Given the description of an element on the screen output the (x, y) to click on. 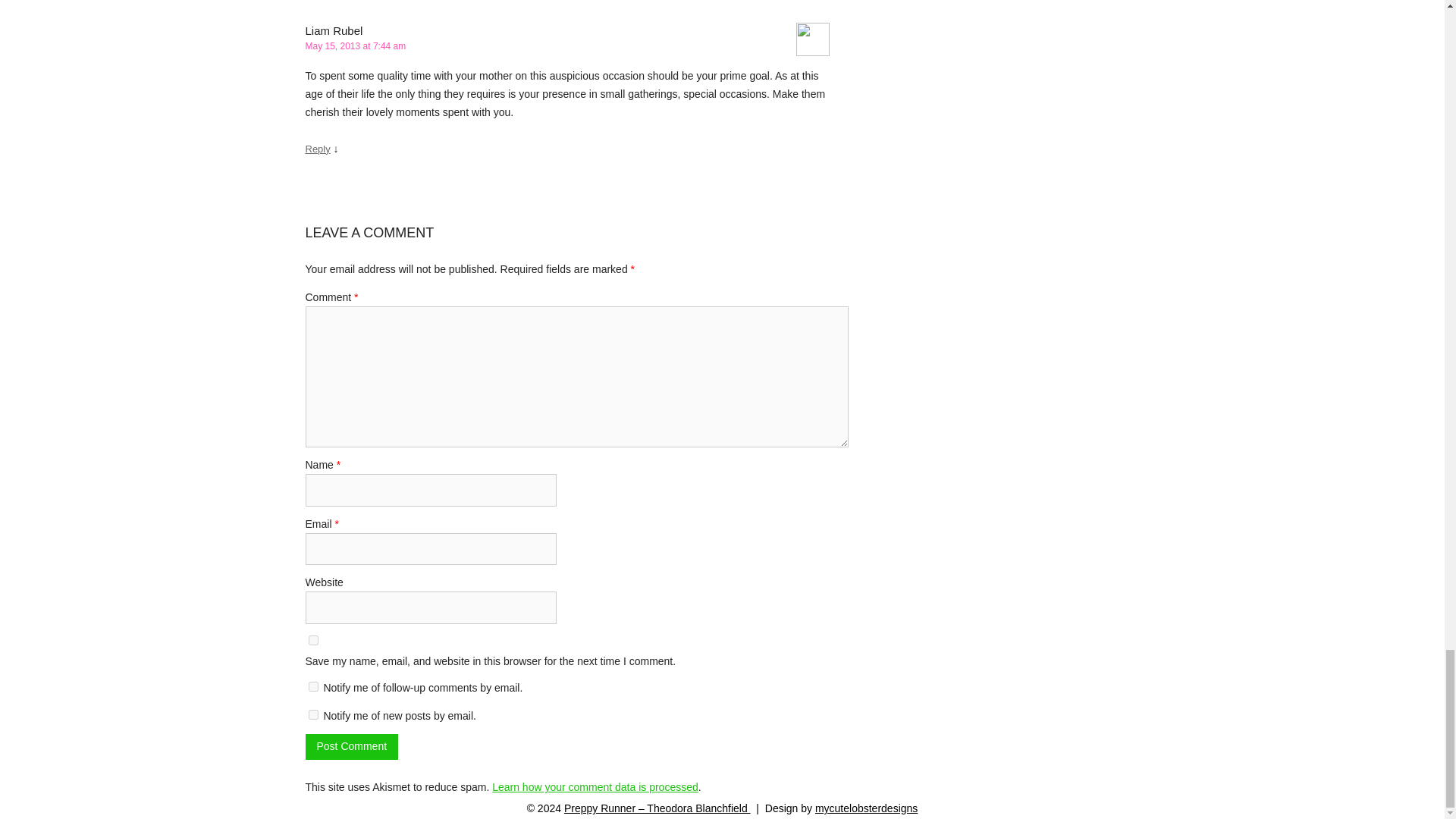
yes (312, 640)
subscribe (312, 714)
Post Comment (350, 746)
subscribe (312, 686)
